Given the description of an element on the screen output the (x, y) to click on. 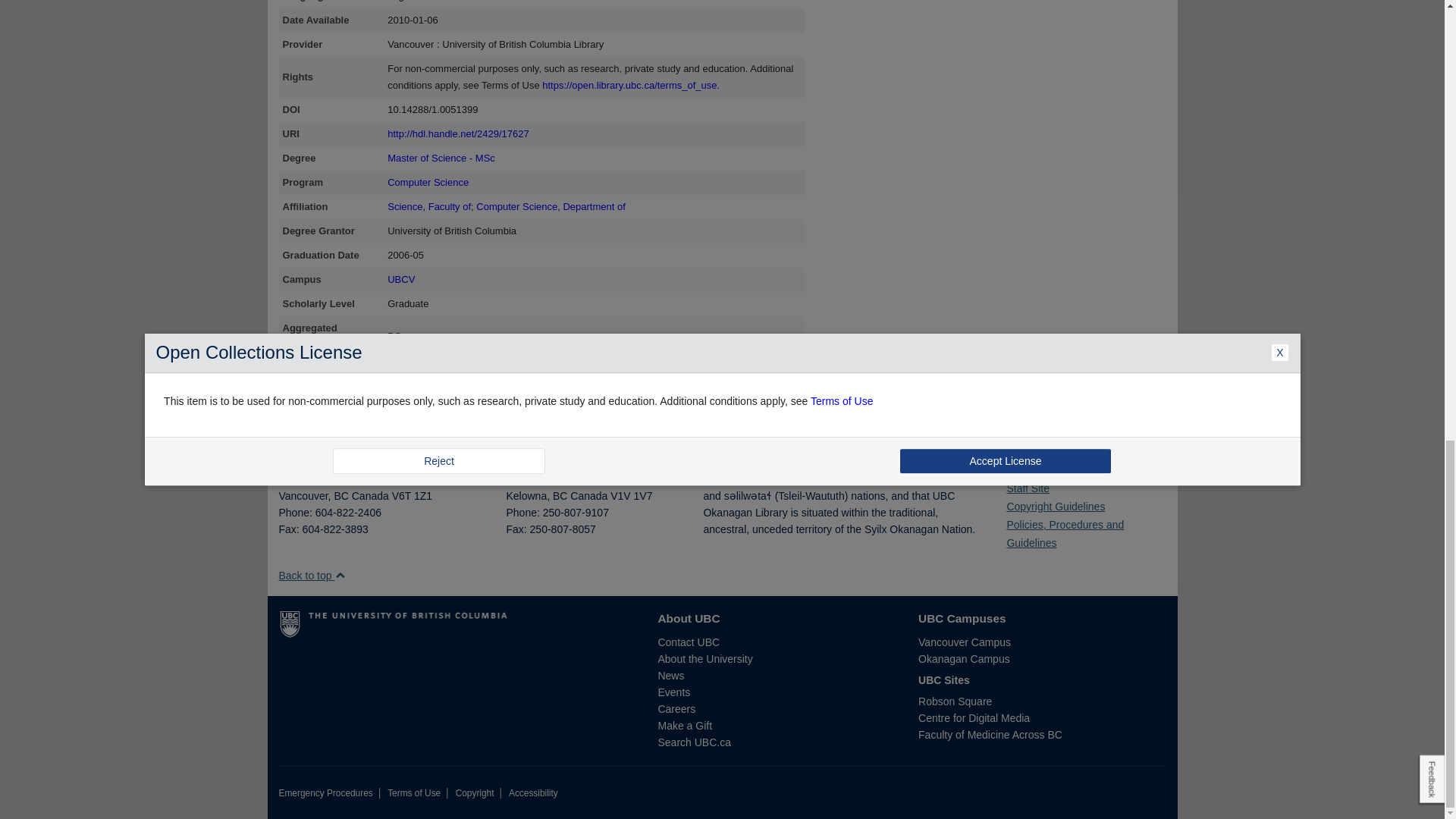
British Columbia (340, 495)
British Columbia (560, 495)
